Given the description of an element on the screen output the (x, y) to click on. 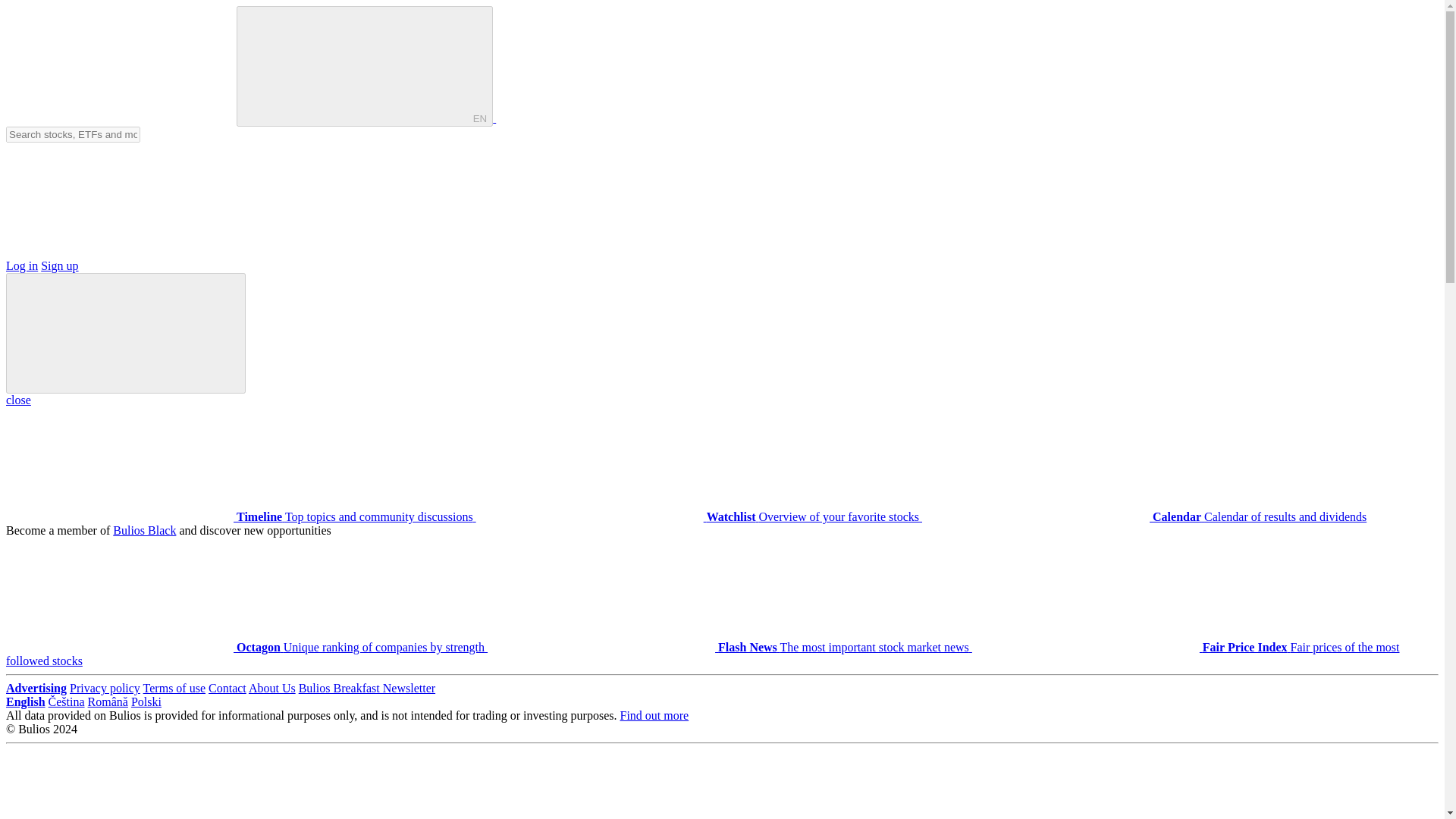
close (17, 399)
Privacy policy (104, 687)
EN (364, 65)
Advertising (35, 687)
EN (479, 117)
English (25, 701)
Flash News The most important stock market news (729, 646)
Watchlist Overview of your favorite stocks (698, 516)
Sign up (59, 265)
About Us (271, 687)
